Given the description of an element on the screen output the (x, y) to click on. 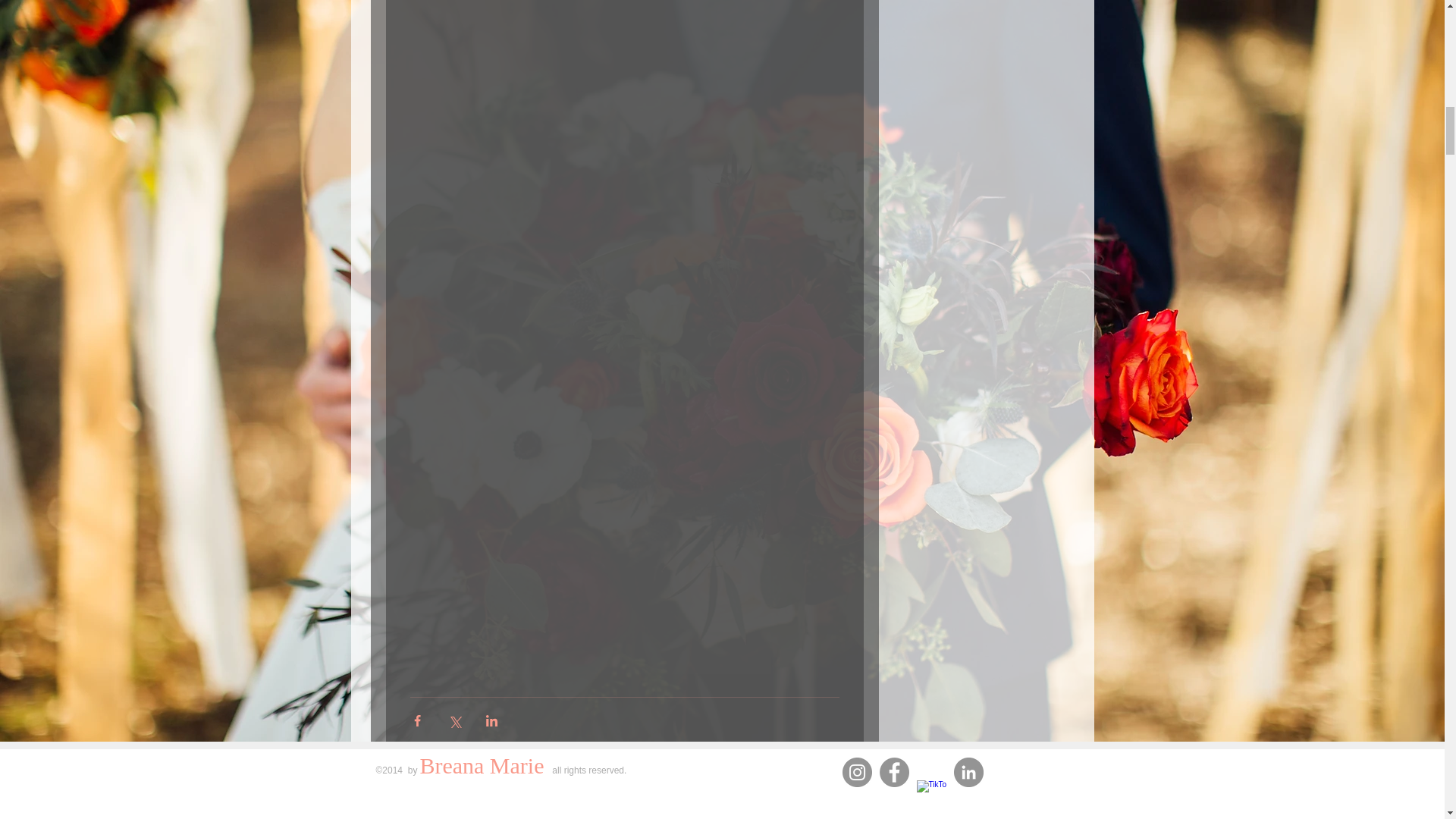
Post not marked as liked (832, 765)
